Given the description of an element on the screen output the (x, y) to click on. 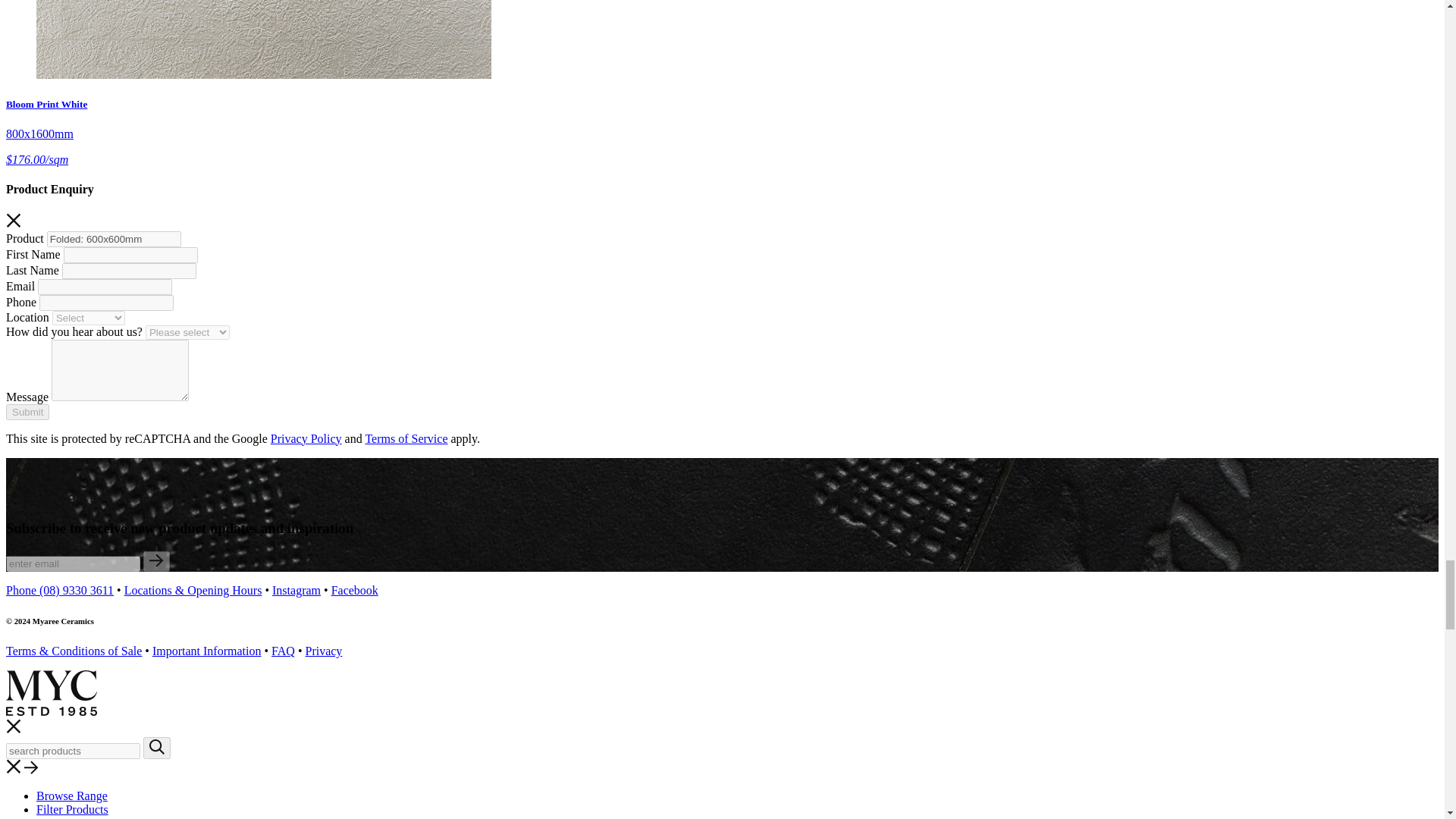
FAQ (282, 650)
Important Information (207, 650)
Folded: 600x600mm (113, 238)
Terms of Service (405, 438)
Submit (27, 412)
Instagram (296, 590)
Privacy Policy (306, 438)
Facebook (354, 590)
